Given the description of an element on the screen output the (x, y) to click on. 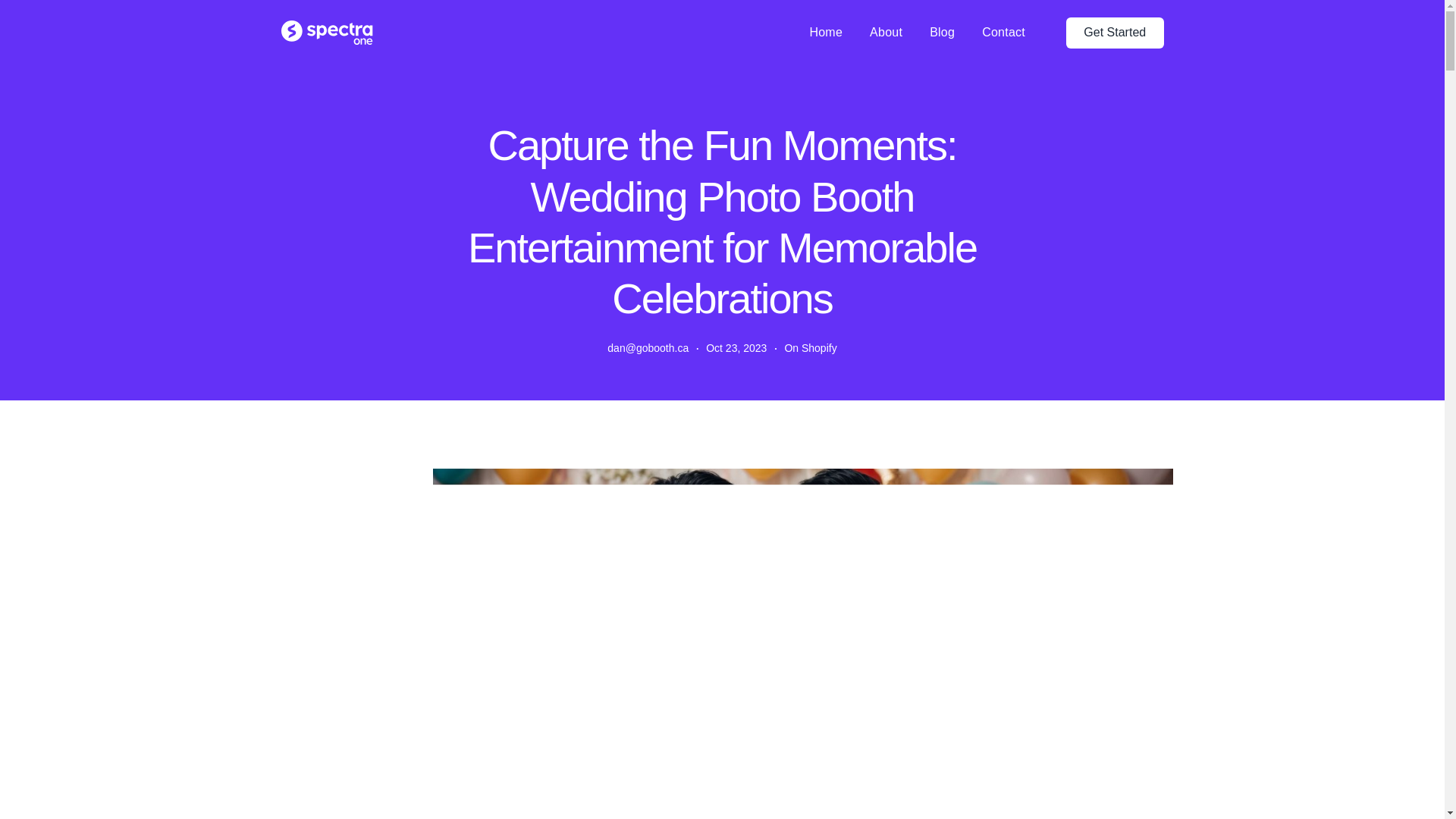
Contact (1003, 32)
About (885, 32)
On Shopify (809, 347)
Get Started (1114, 31)
Blog (942, 32)
Home (826, 32)
